Given the description of an element on the screen output the (x, y) to click on. 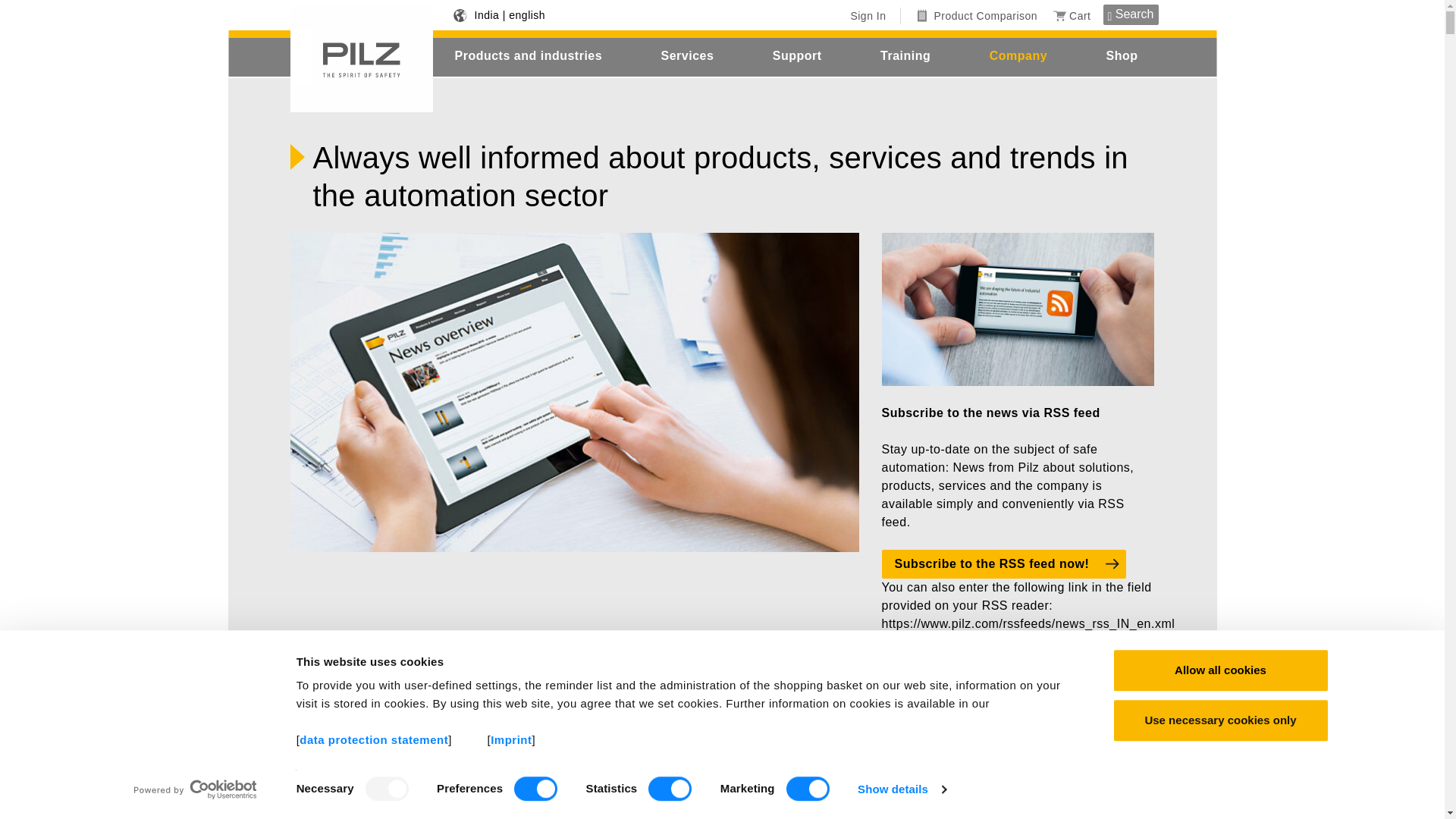
data protection statement (373, 739)
Product Comparison (976, 15)
Cart (1071, 15)
Show details (900, 789)
Imprint (510, 739)
data protection statement (373, 739)
Imprint (510, 739)
